Given the description of an element on the screen output the (x, y) to click on. 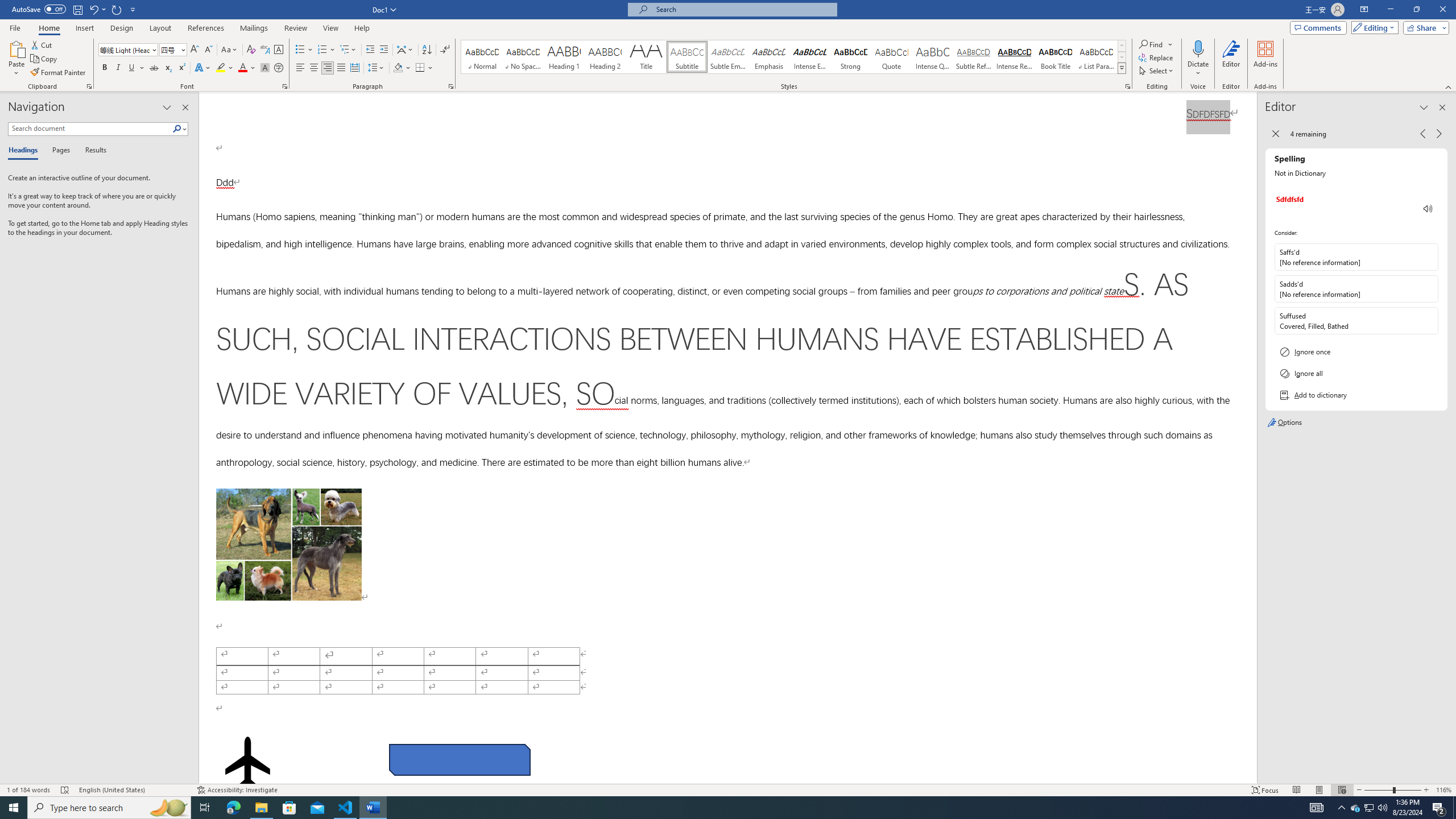
Styles... (1127, 85)
Text Highlight Color Yellow (220, 67)
Find (1155, 44)
Task Pane Options (167, 107)
Ignore all (1356, 373)
Intense Emphasis (809, 56)
Layout (160, 28)
Shrink Font (208, 49)
More options for Saffs'd (1428, 257)
Intense Reference (1014, 56)
